Given the description of an element on the screen output the (x, y) to click on. 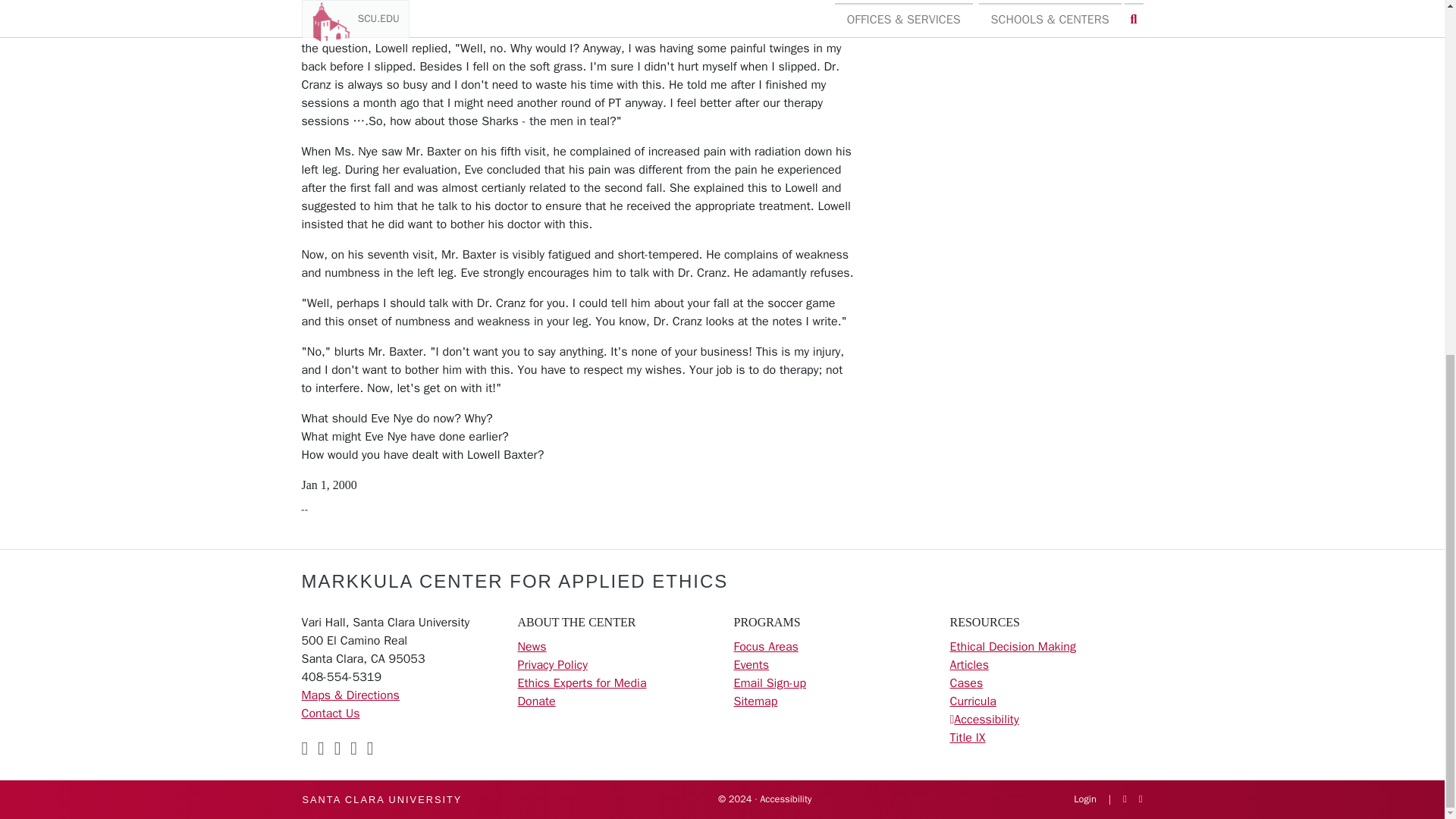
Accessibility (985, 719)
The Office of Equal Opportunity and Title IX (967, 737)
